Given the description of an element on the screen output the (x, y) to click on. 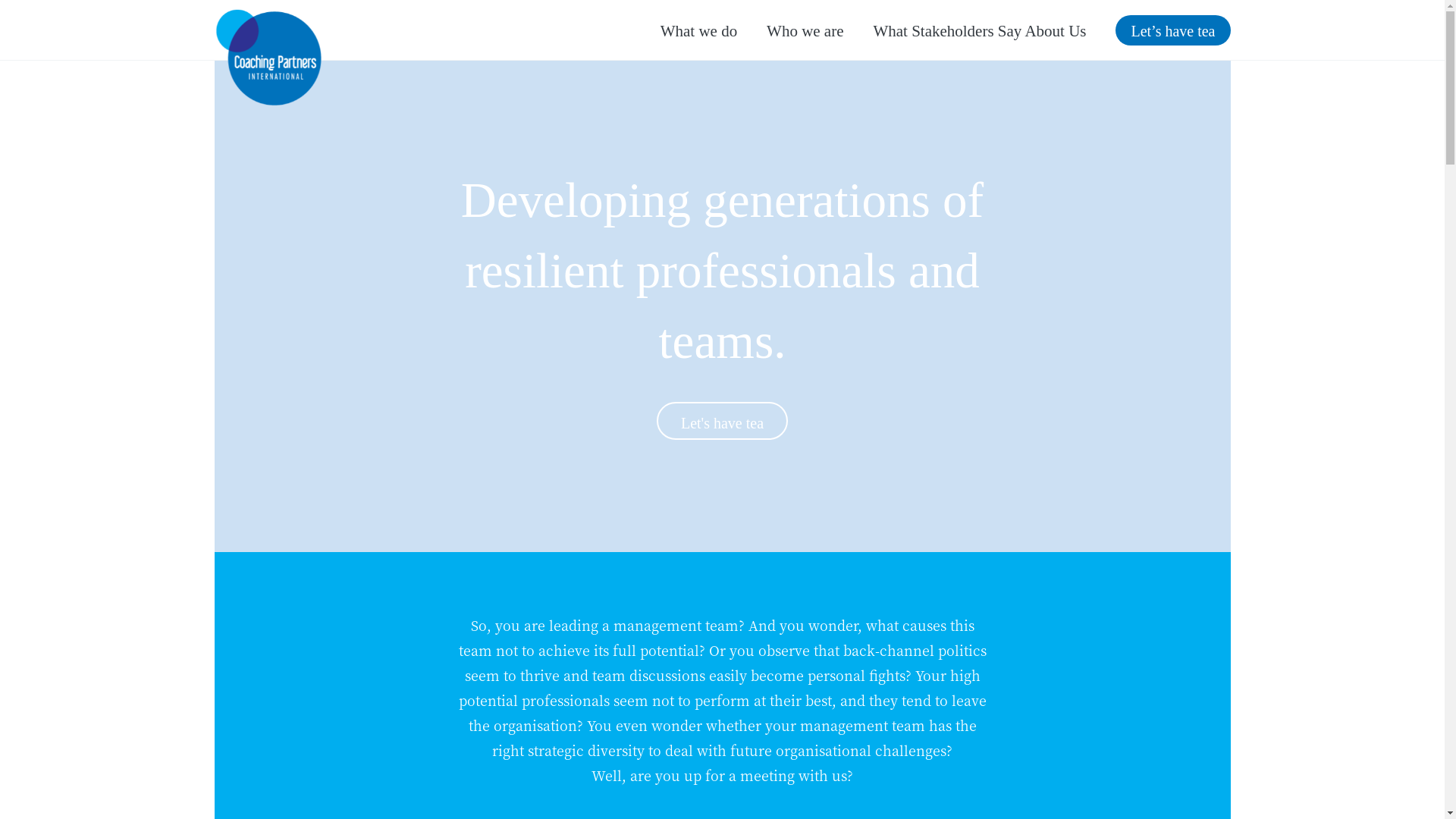
What Stakeholders Say About Us Element type: text (978, 31)
Let's have tea Element type: text (721, 420)
Who we are Element type: text (804, 31)
What we do Element type: text (698, 31)
